Given the description of an element on the screen output the (x, y) to click on. 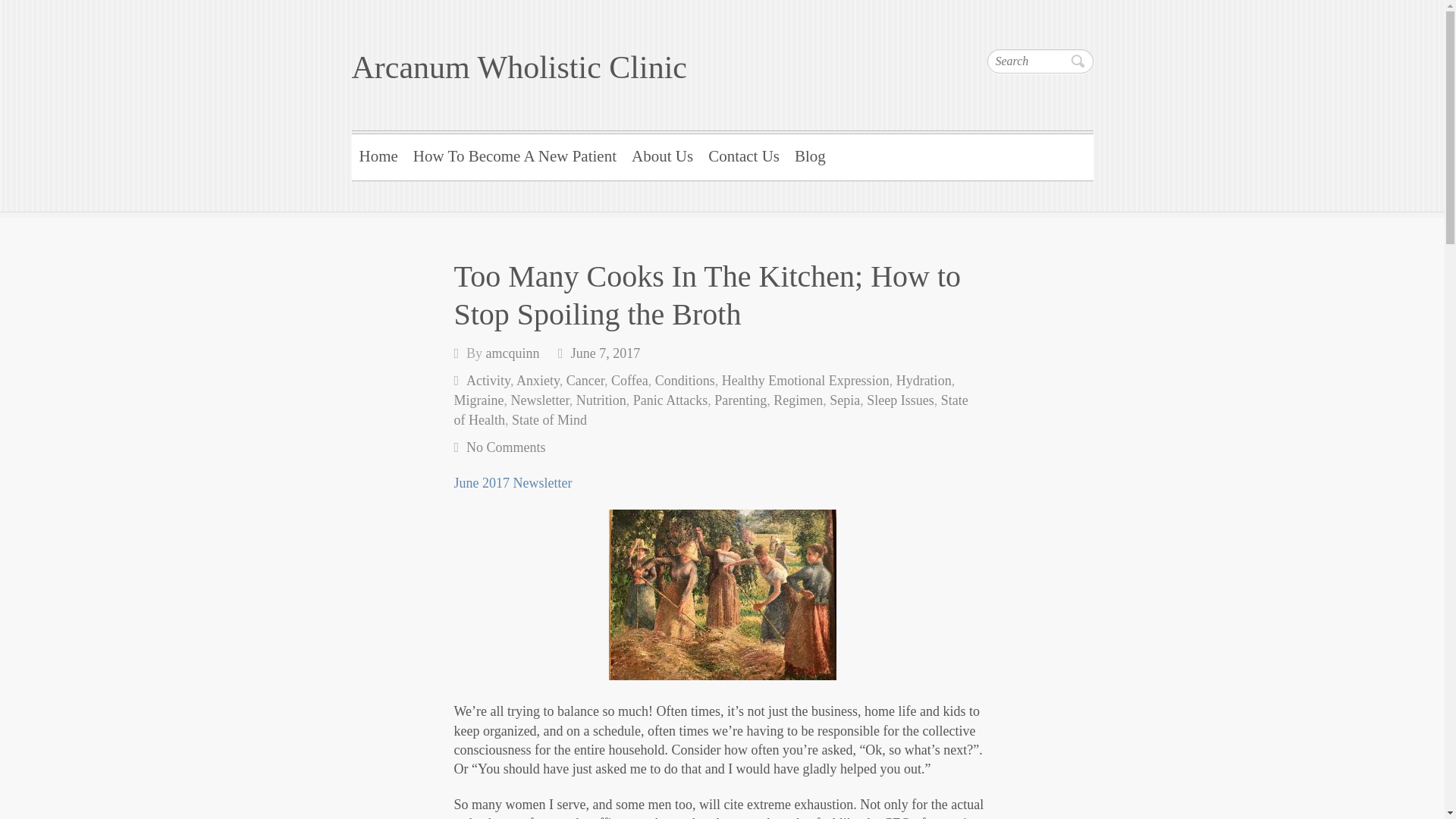
About Us (662, 155)
Blog (809, 155)
2:09 am (605, 353)
Healthy Emotional Expression (805, 380)
Home (379, 155)
How To Become A New Patient (515, 155)
amcquinn (513, 353)
Coffea (629, 380)
June 7, 2017 (605, 353)
Arcanum Wholistic Clinic (519, 67)
Arcanum Wholistic Clinic (519, 67)
Activity (488, 380)
Contact Us (743, 155)
Newsletter (540, 400)
Hydration (924, 380)
